Given the description of an element on the screen output the (x, y) to click on. 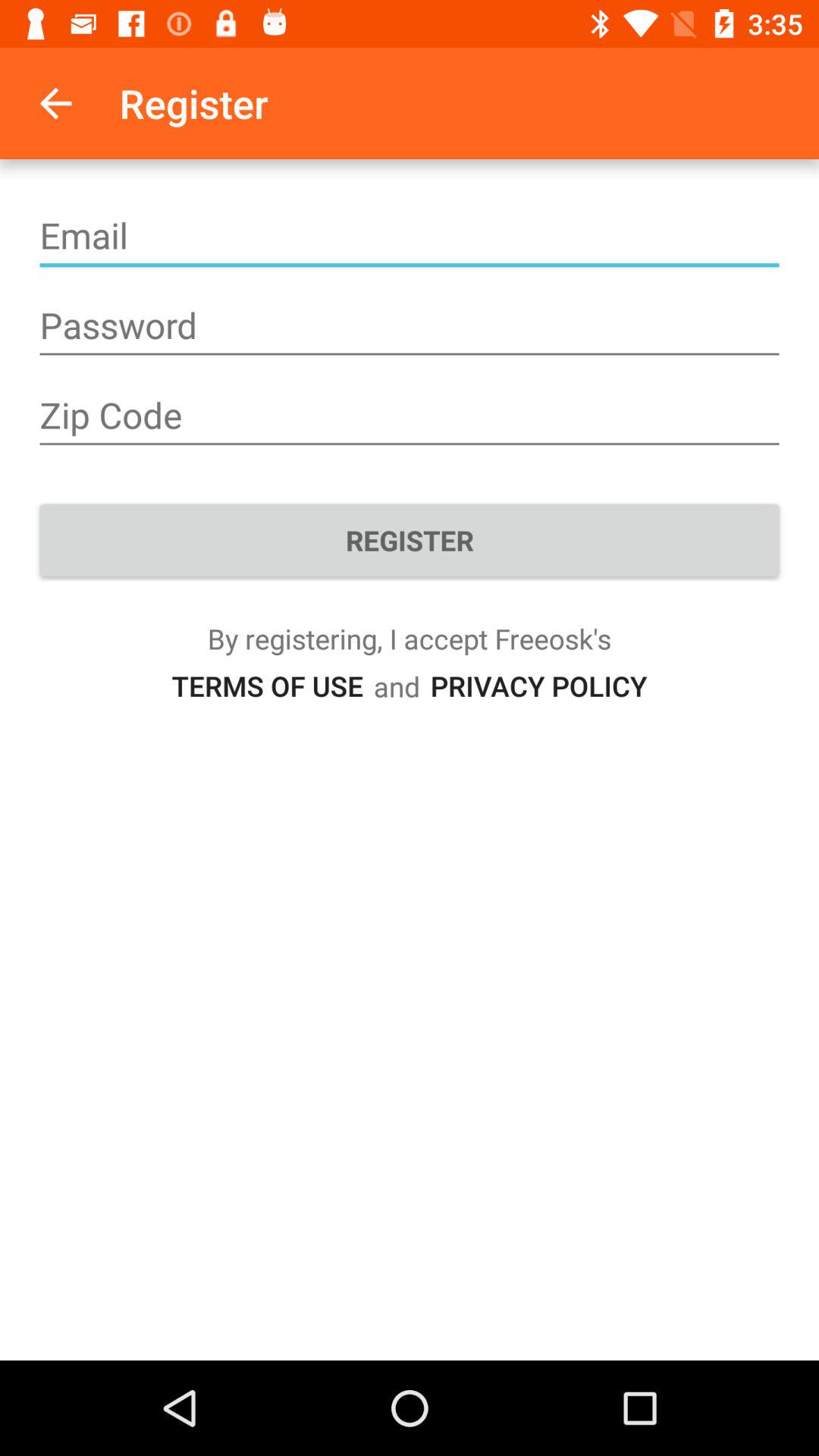
select terms of use on the left (267, 685)
